Given the description of an element on the screen output the (x, y) to click on. 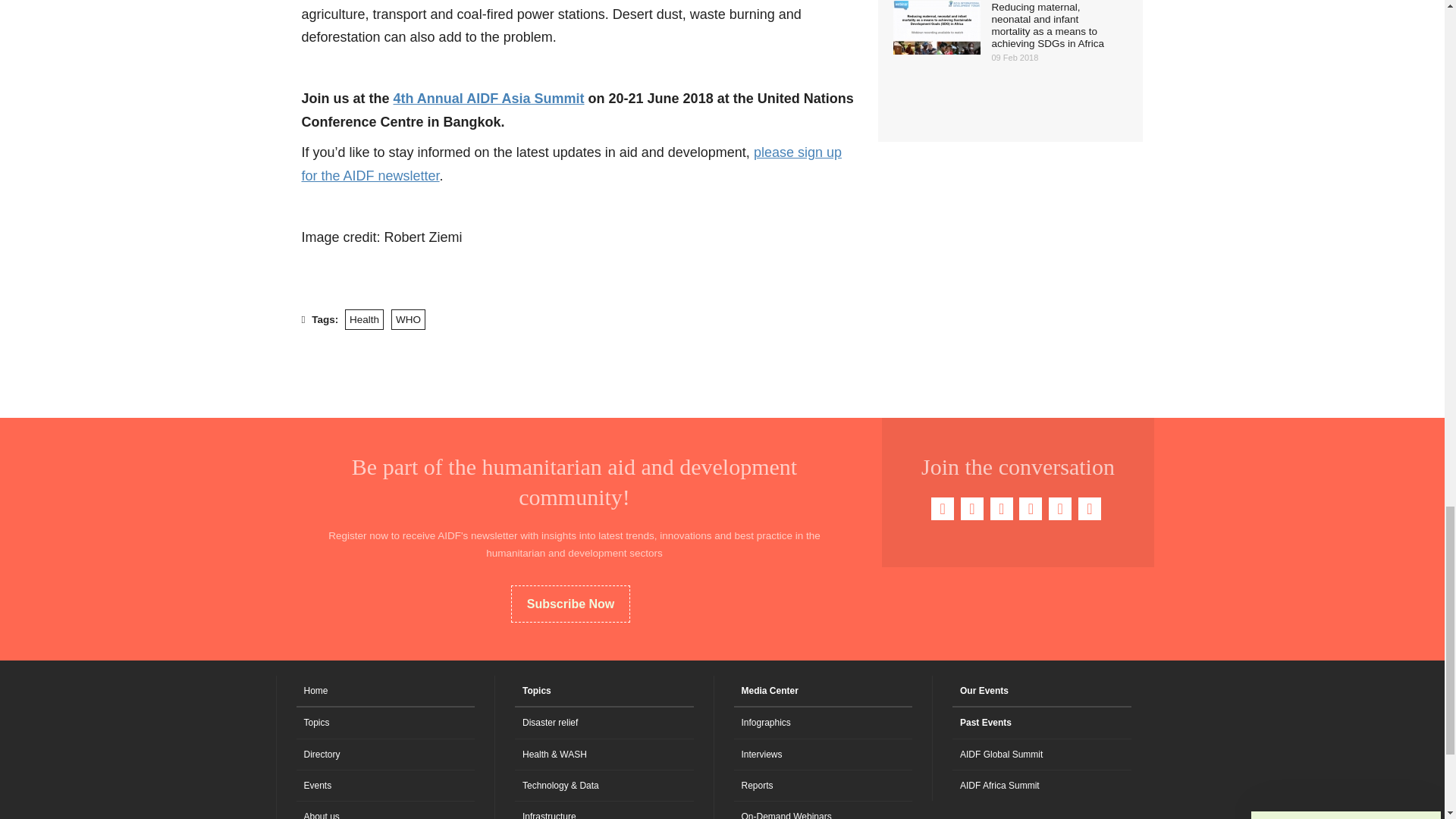
WHO (408, 319)
Health (364, 319)
Facebook (942, 508)
